Given the description of an element on the screen output the (x, y) to click on. 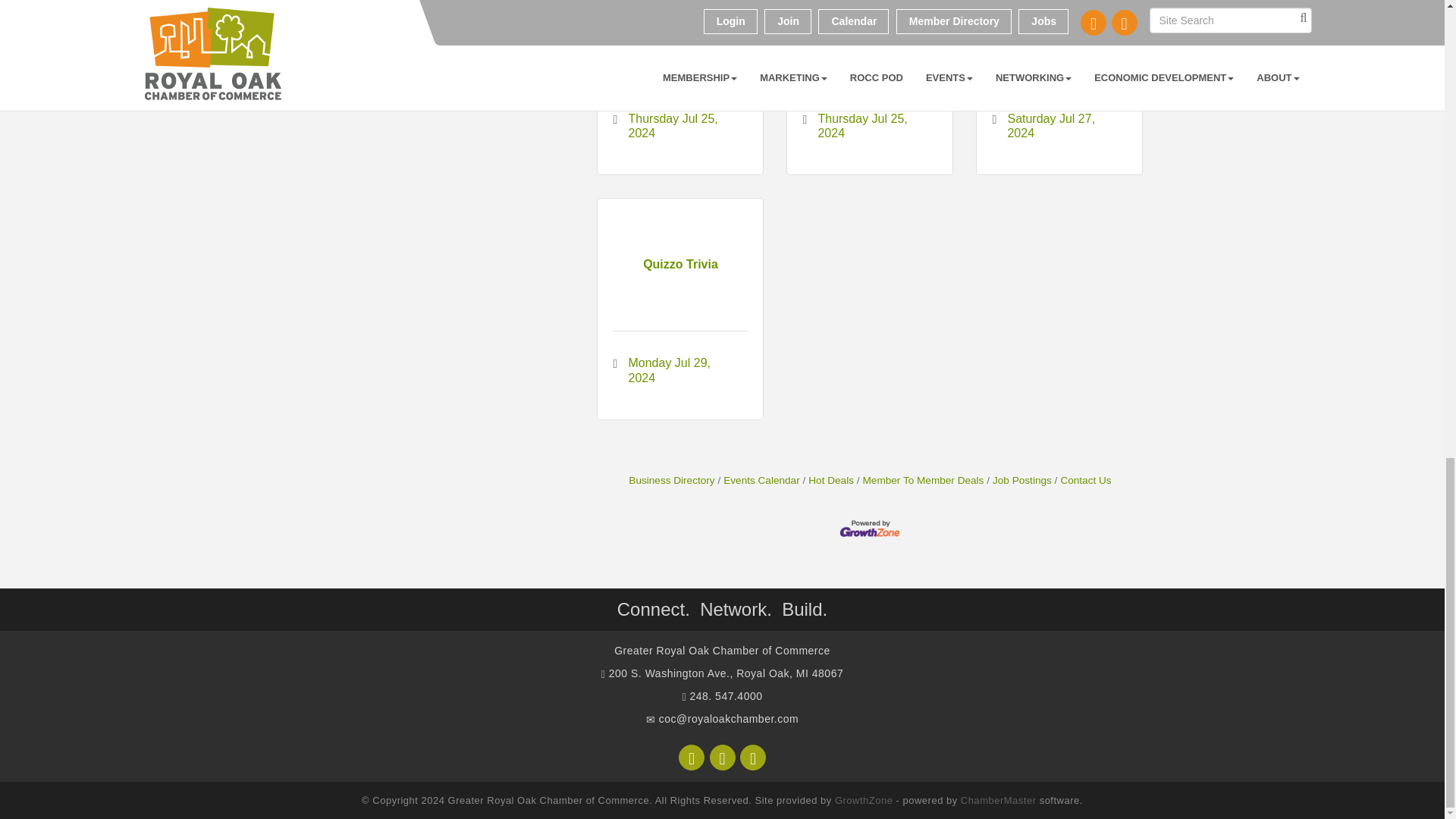
Icon Link (752, 757)
Icon Link (691, 757)
Icon Link (722, 757)
